Given the description of an element on the screen output the (x, y) to click on. 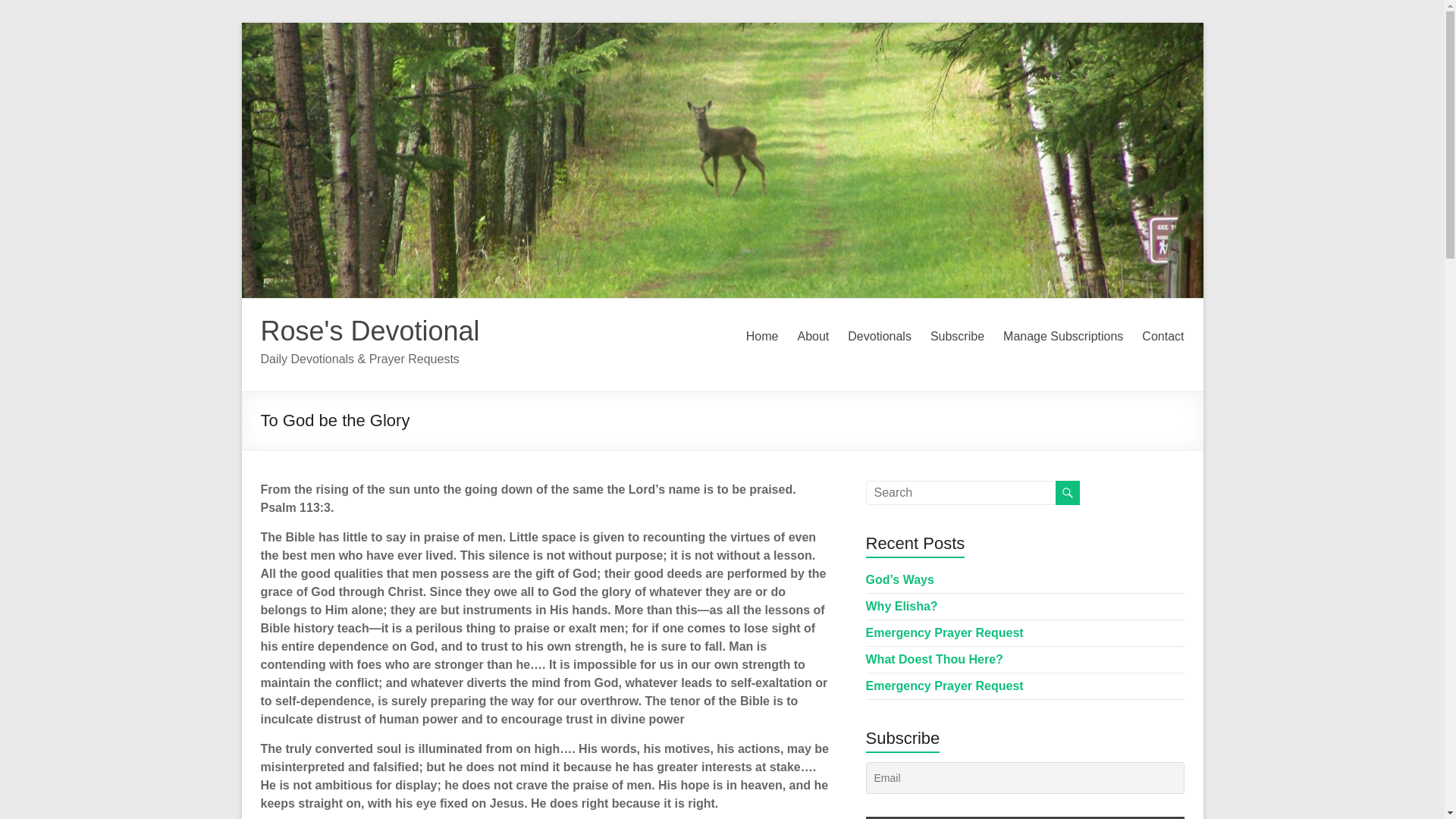
Manage Subscriptions (1062, 336)
Home (761, 336)
Rose's Devotional (370, 330)
Devotionals (879, 336)
Subscribe (957, 336)
Why Elisha? (901, 605)
About (812, 336)
Emergency Prayer Request (944, 632)
